Given the description of an element on the screen output the (x, y) to click on. 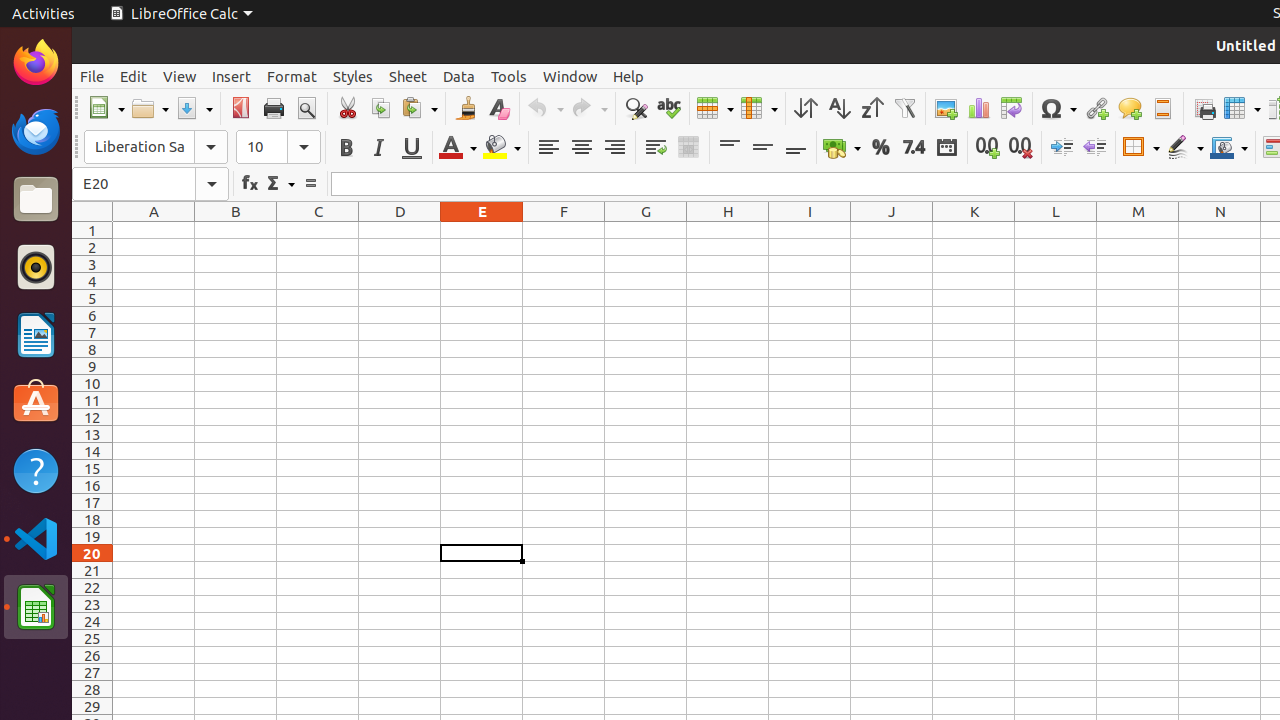
Name Box Element type: combo-box (150, 184)
C1 Element type: table-cell (318, 230)
Comment Element type: push-button (1129, 108)
Paste Element type: push-button (419, 108)
I1 Element type: table-cell (810, 230)
